Given the description of an element on the screen output the (x, y) to click on. 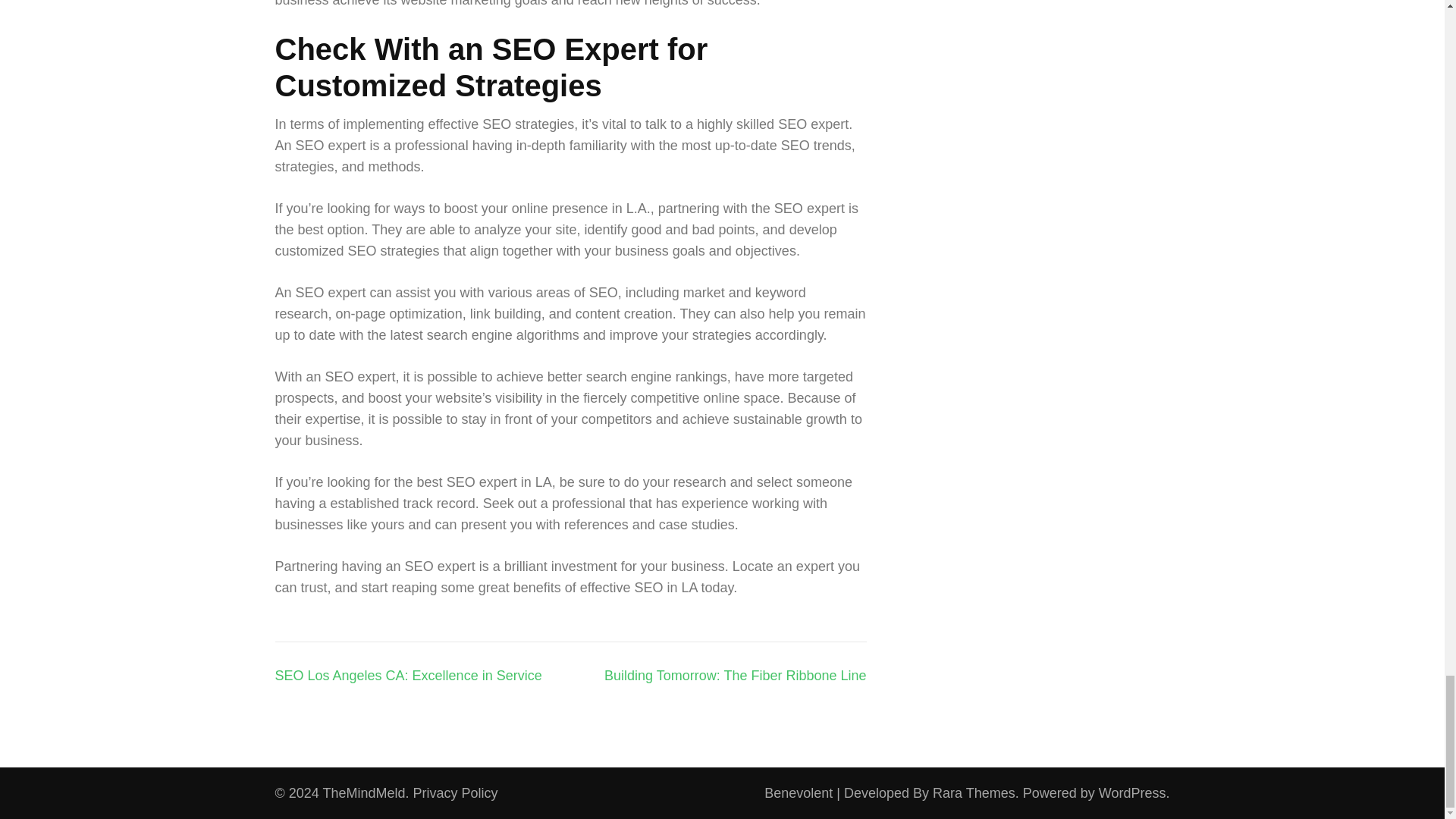
SEO Los Angeles CA: Excellence in Service (408, 675)
Building Tomorrow: The Fiber Ribbone Line (735, 675)
